Given the description of an element on the screen output the (x, y) to click on. 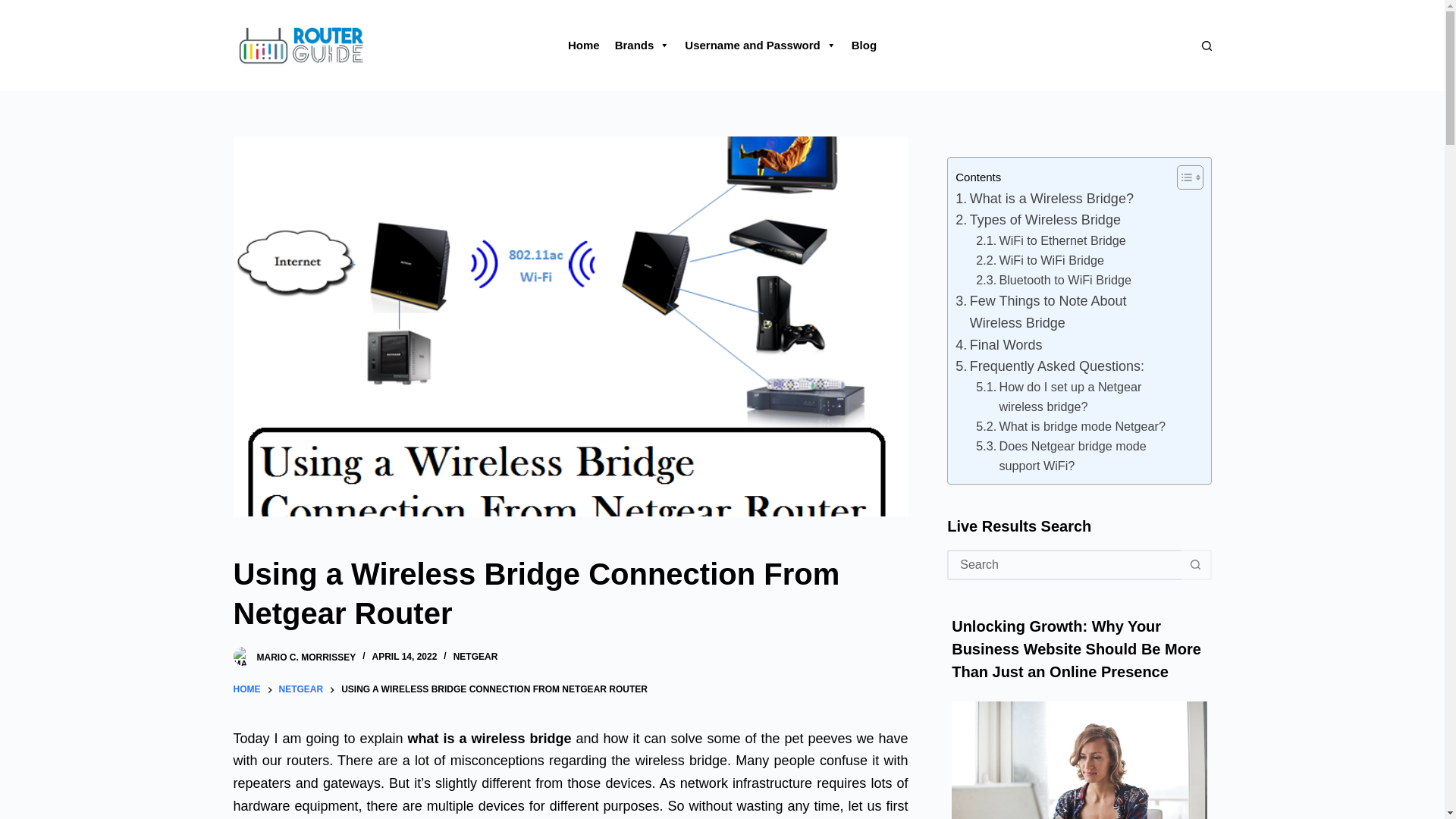
Frequently Asked Questions: (1049, 366)
Posts by Mario C. Morrissey (305, 656)
WiFi to WiFi Bridge (1039, 260)
Types of Wireless Bridge (1038, 219)
How do I set up a Netgear wireless bridge? (1072, 396)
What is a Wireless Bridge? (1044, 198)
Bluetooth to WiFi Bridge (1053, 280)
Using a Wireless Bridge Connection From Netgear Router (570, 593)
Skip to content (15, 7)
What is bridge mode Netgear? (1070, 426)
Final Words (998, 345)
WiFi to Ethernet Bridge (1050, 240)
Few Things to Note About Wireless Bridge (1062, 312)
